Given the description of an element on the screen output the (x, y) to click on. 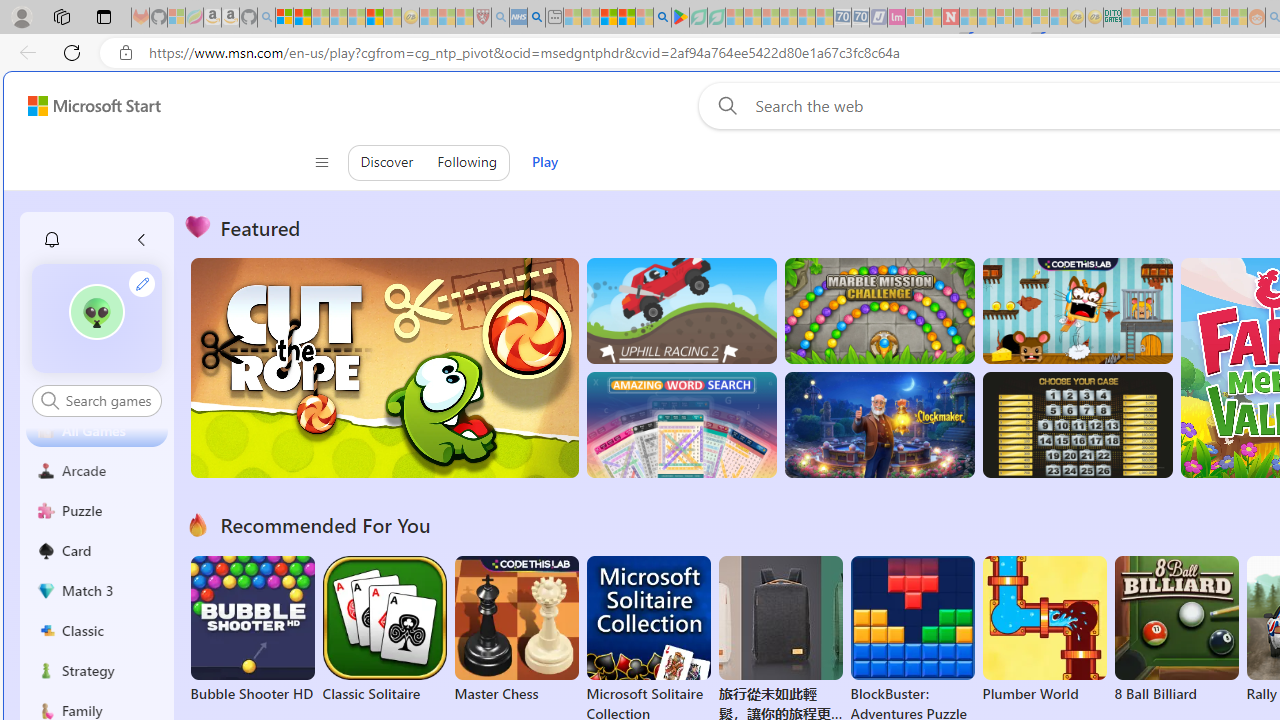
Class: profile-edit (142, 283)
8 Ball Billiard (1176, 629)
Deal or No Deal (1076, 425)
